Given the description of an element on the screen output the (x, y) to click on. 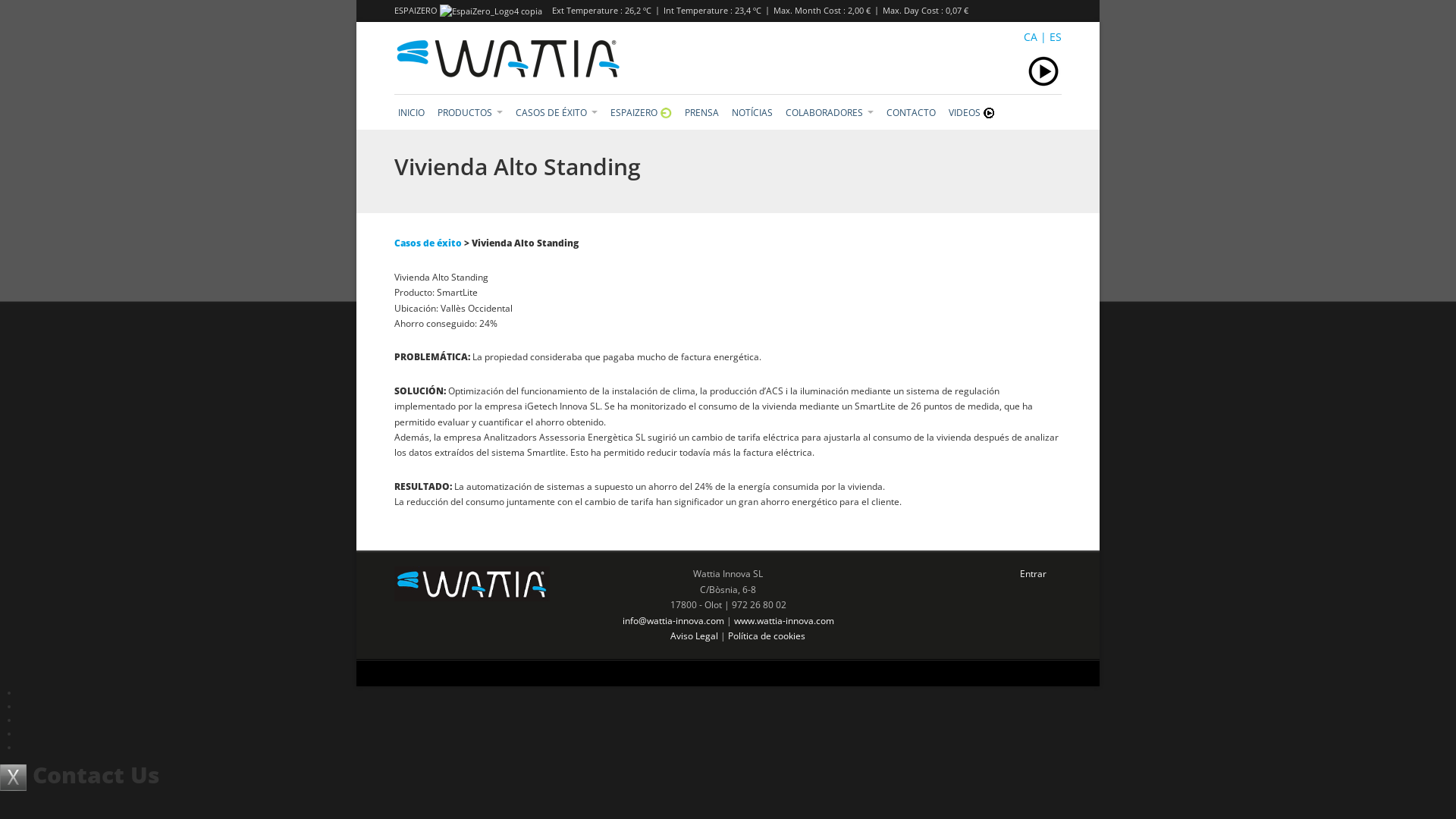
www.wattia-innova.com Element type: text (784, 620)
PRENSA Element type: text (701, 108)
ES Element type: text (1055, 36)
Entrar Element type: text (1032, 573)
CA Element type: text (1030, 36)
INICIO Element type: text (411, 108)
PRODUCTOS Element type: text (469, 108)
CONTACTO Element type: text (910, 108)
COLABORADORES Element type: text (829, 108)
VIDEOS Element type: text (971, 108)
Aviso Legal Element type: text (694, 635)
ESPAIZERO Element type: text (640, 108)
info@wattia-innova.com Element type: text (672, 620)
